Given the description of an element on the screen output the (x, y) to click on. 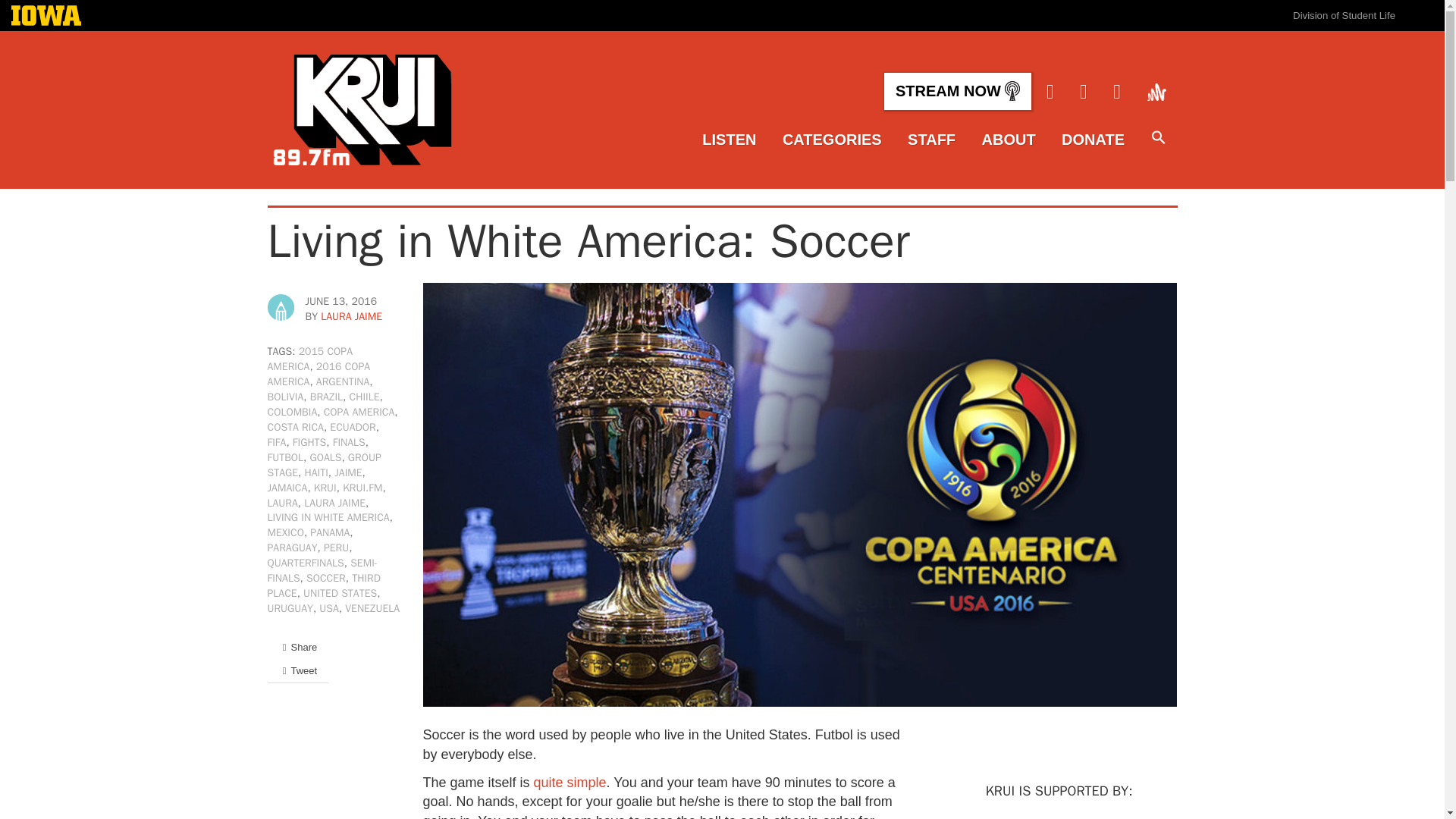
STREAM NOW (956, 90)
Share on Twitter (296, 670)
CATEGORIES (832, 139)
ABOUT (1008, 139)
Division of Student Life (1343, 15)
LISTEN (728, 139)
The University of Iowa (46, 16)
Share on Facebook (296, 647)
STAFF (931, 139)
